Given the description of an element on the screen output the (x, y) to click on. 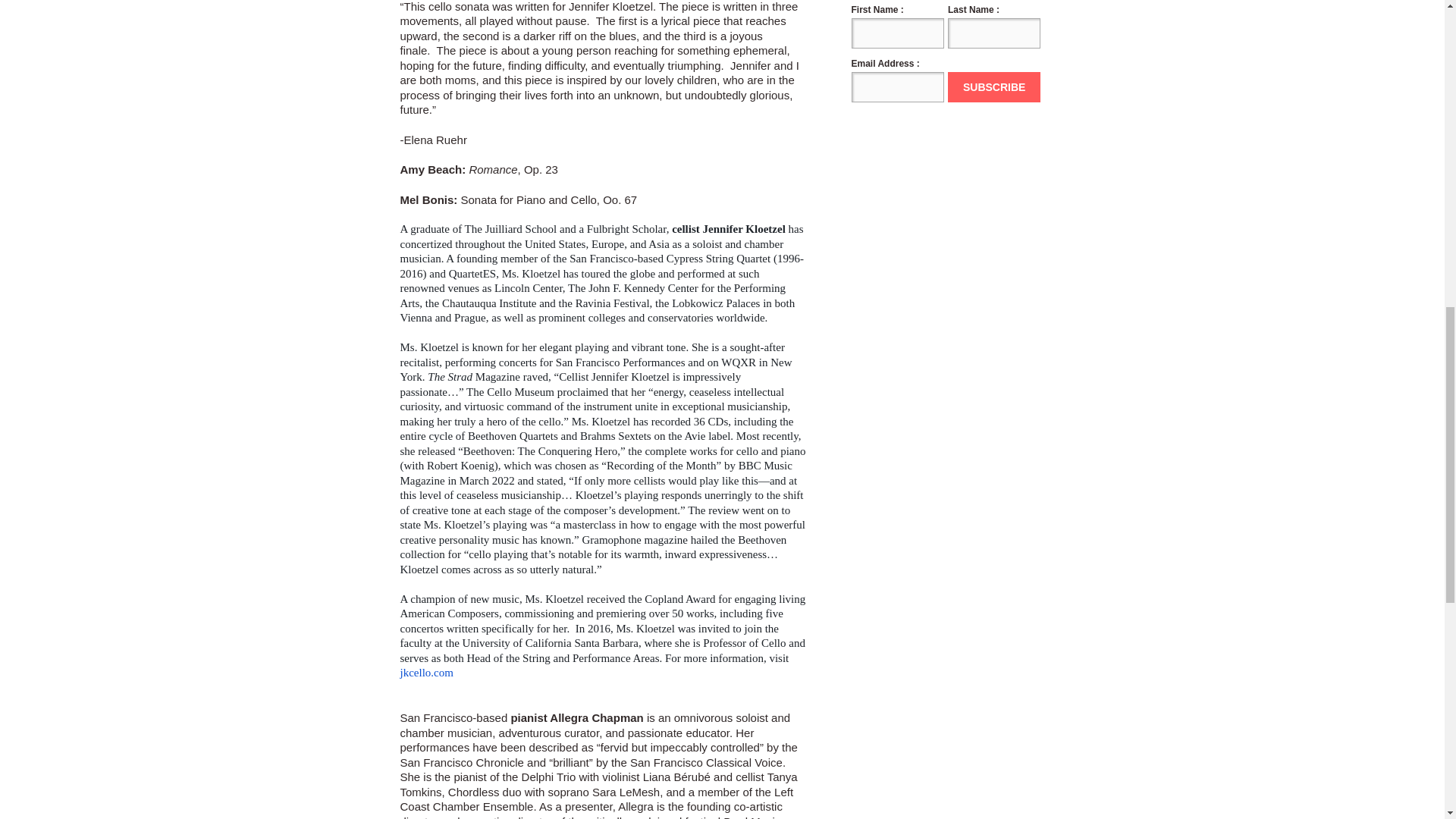
Subscribe (994, 87)
jkcello.com (426, 672)
